Given the description of an element on the screen output the (x, y) to click on. 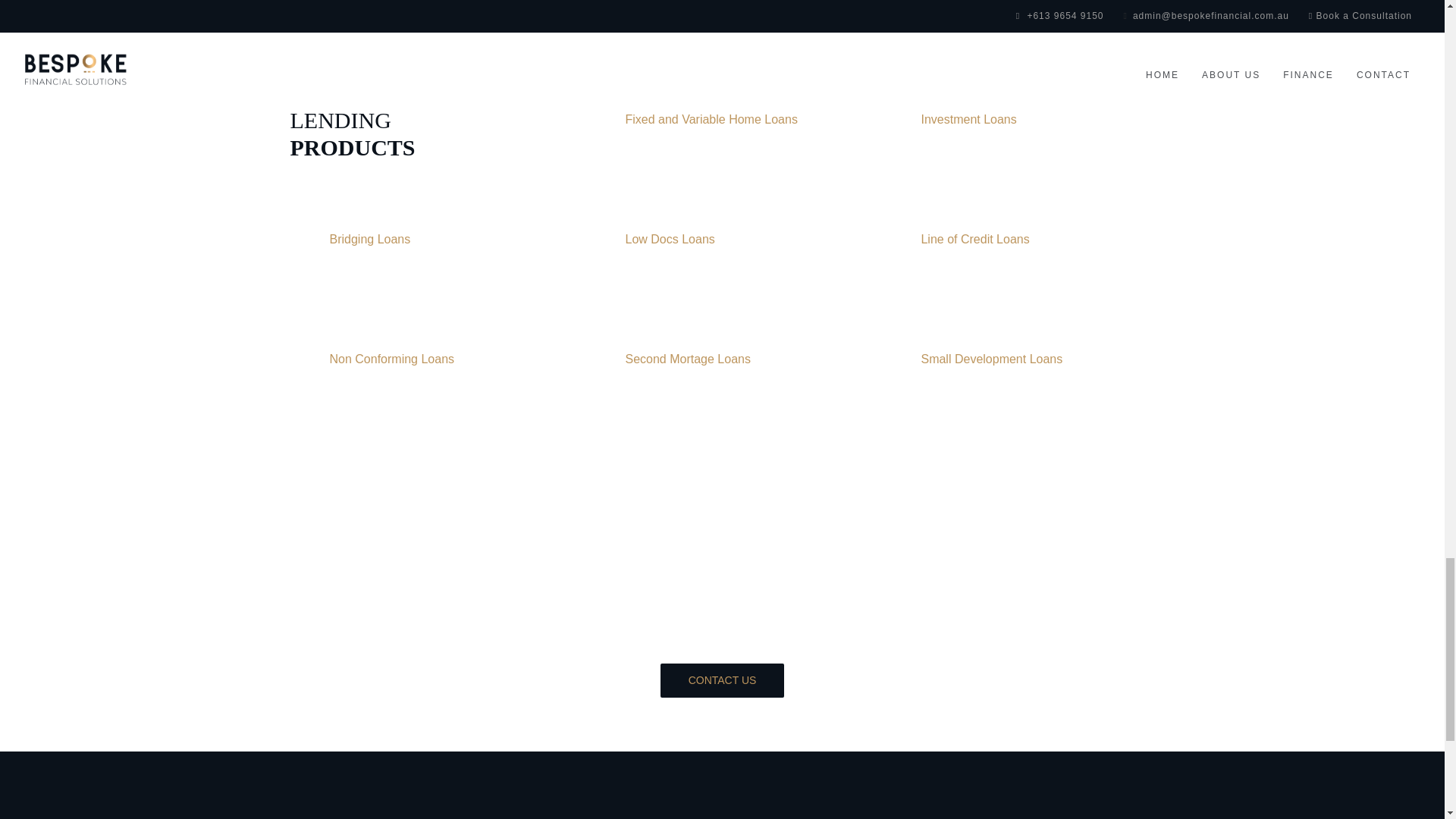
CONTACT US (722, 680)
